Given the description of an element on the screen output the (x, y) to click on. 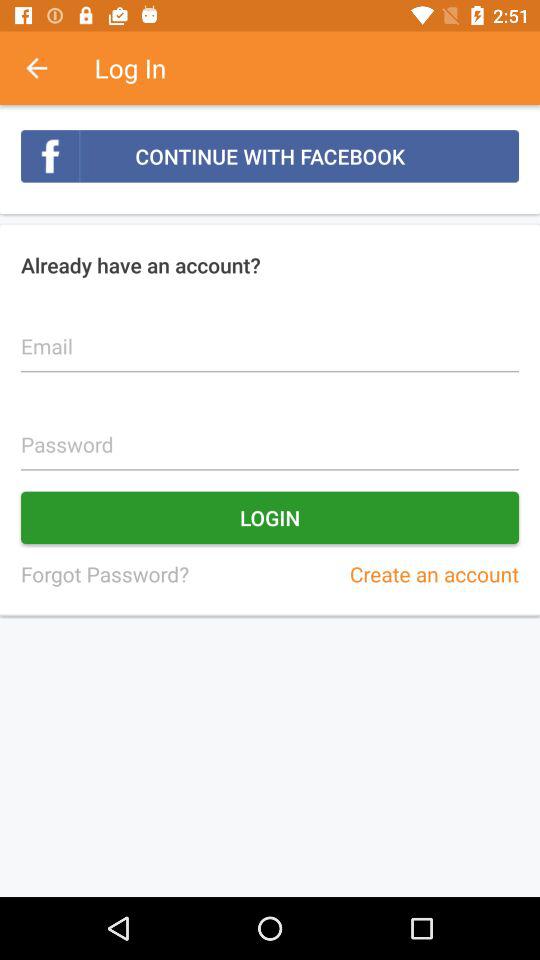
turn on the forgot password? icon (104, 573)
